Given the description of an element on the screen output the (x, y) to click on. 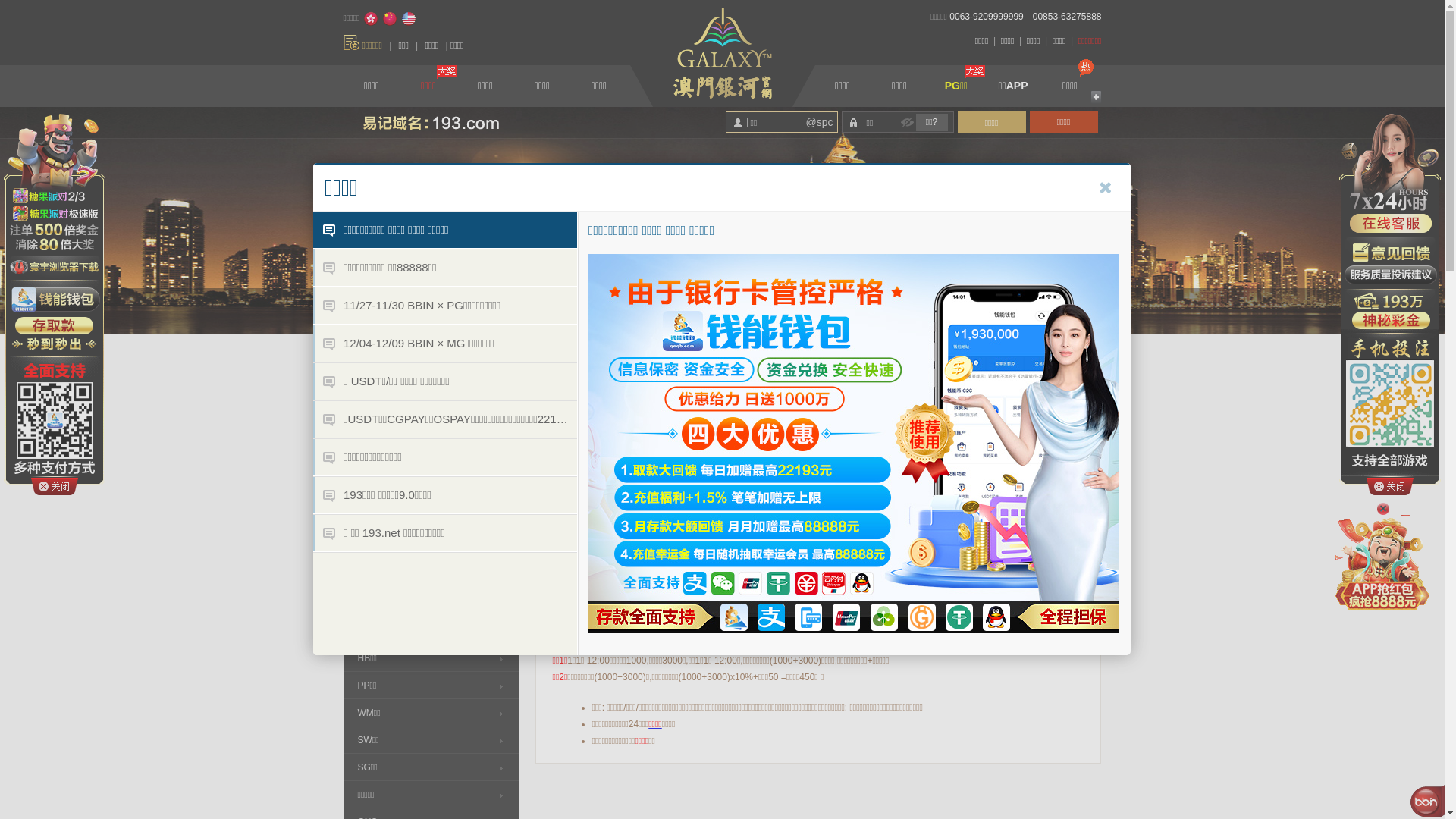
English Element type: hover (408, 18)
